Given the description of an element on the screen output the (x, y) to click on. 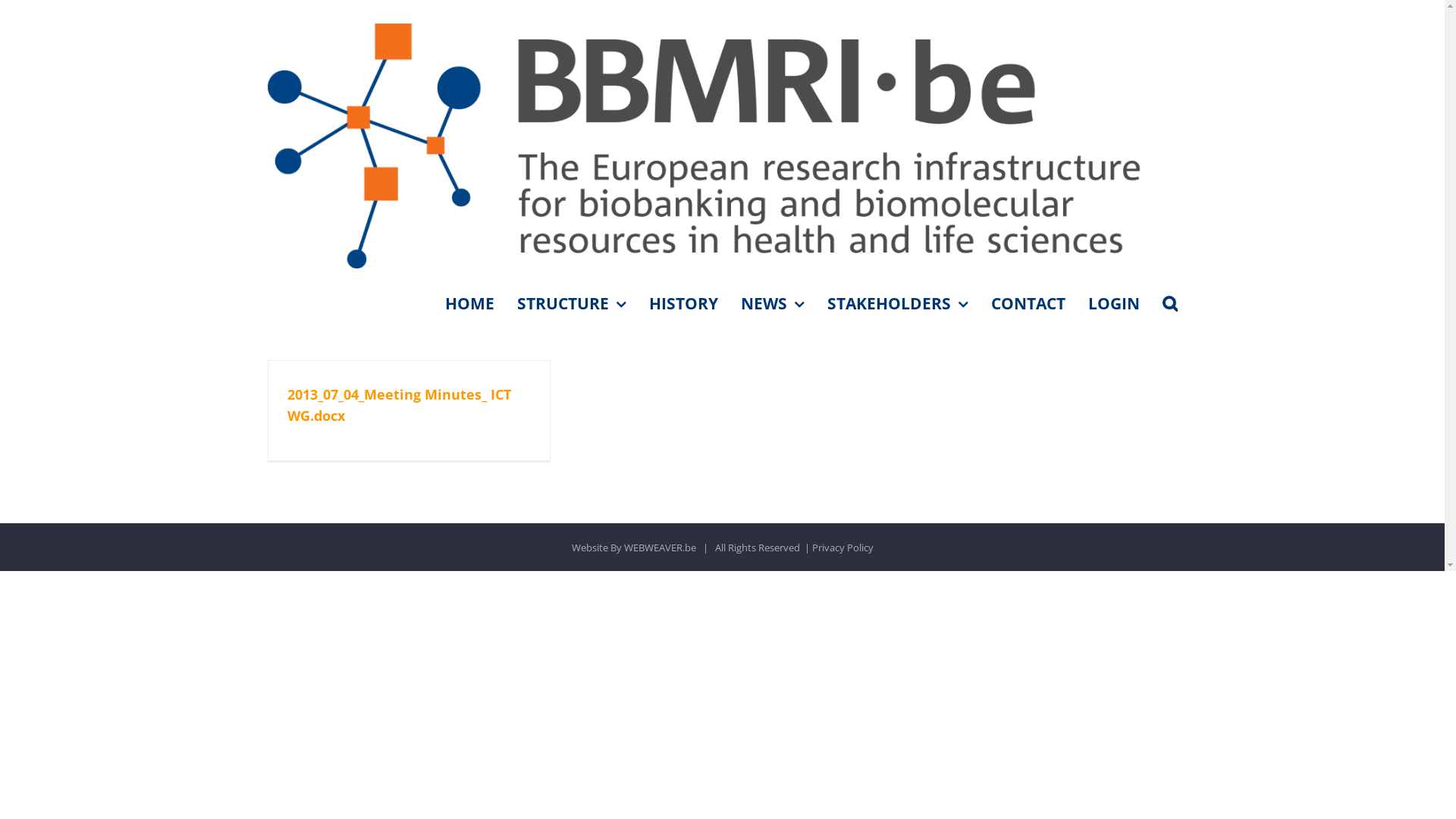
STRUCTURE Element type: text (571, 302)
Privacy Policy Element type: text (841, 547)
NEWS Element type: text (771, 302)
LOGIN Element type: text (1113, 302)
WEBWEAVER.be Element type: text (659, 547)
CONTACT Element type: text (1027, 302)
HOME Element type: text (468, 302)
STAKEHOLDERS Element type: text (896, 302)
HISTORY Element type: text (683, 302)
Search Element type: hover (1168, 302)
2013_07_04_Meeting Minutes_ ICT WG.docx Element type: text (398, 404)
